Given the description of an element on the screen output the (x, y) to click on. 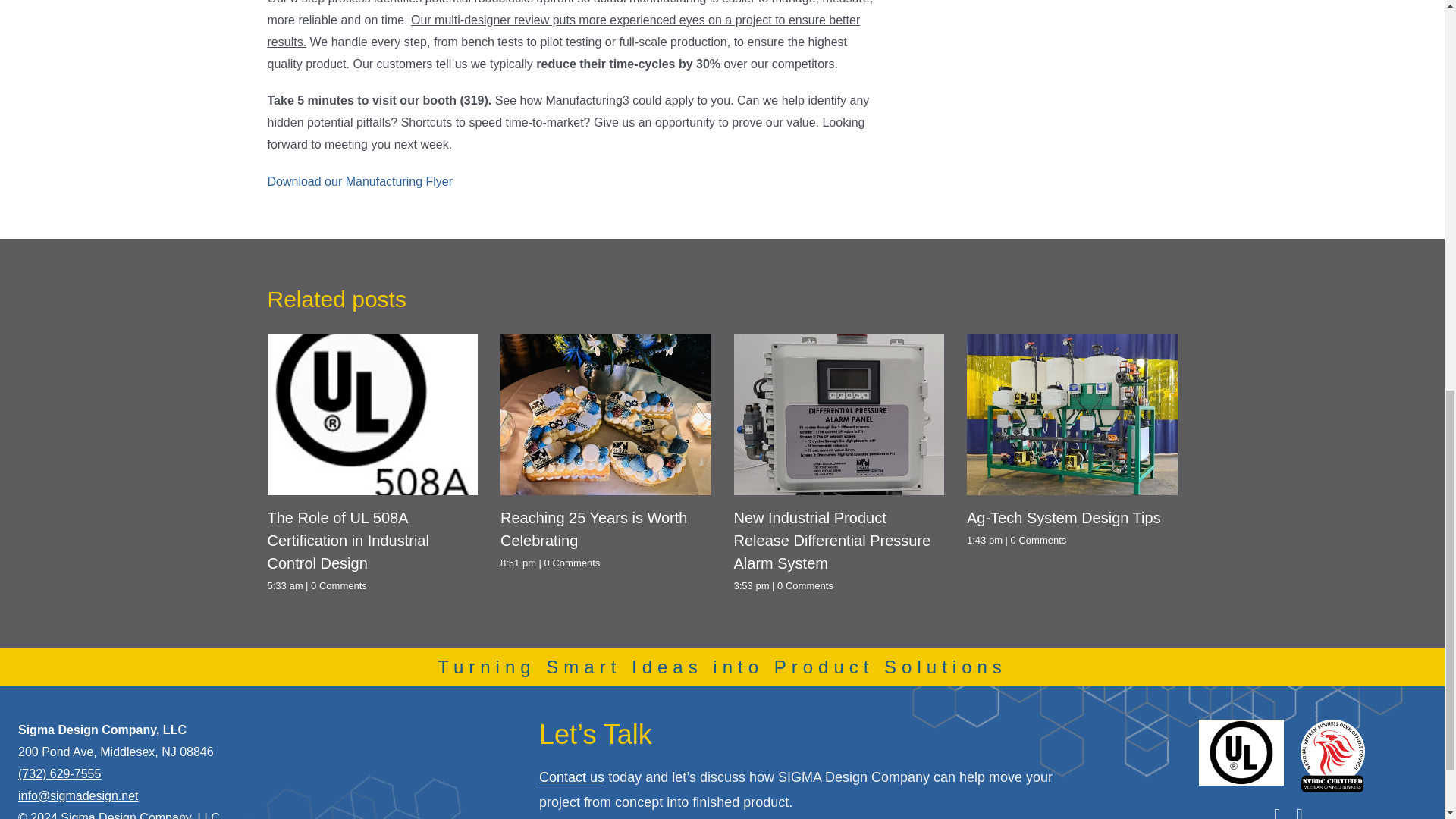
NVBDC Certified (1332, 755)
Ag-Tech System Design Tips (1063, 517)
Reaching 25 Years is Worth Celebrating (605, 529)
UL Certificate (1241, 752)
